Given the description of an element on the screen output the (x, y) to click on. 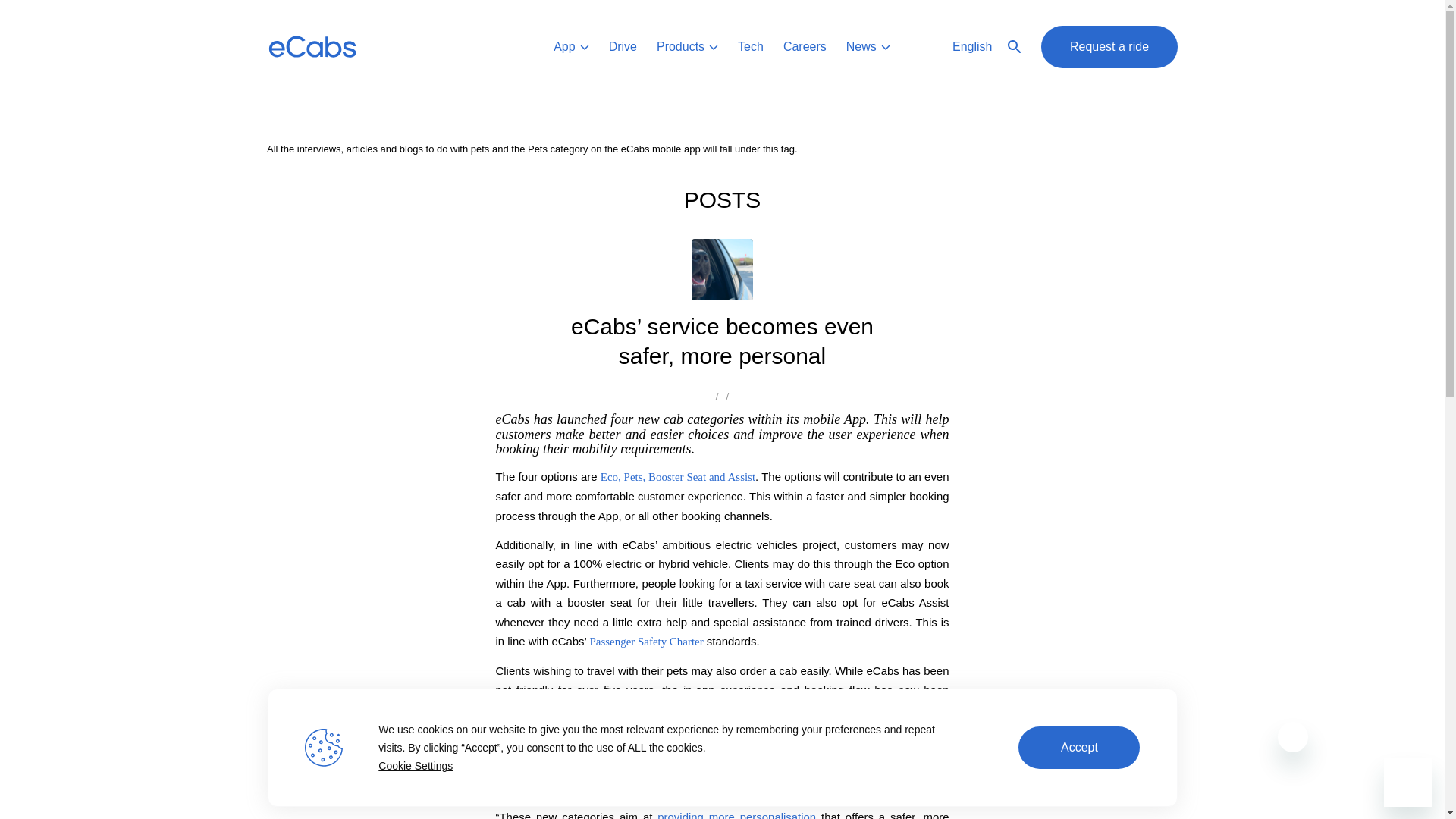
Passenger Safety Charter (644, 640)
Request a ride (1108, 47)
English (987, 47)
eCabs safer (721, 269)
providing more personalisation (736, 814)
English (987, 47)
